Given the description of an element on the screen output the (x, y) to click on. 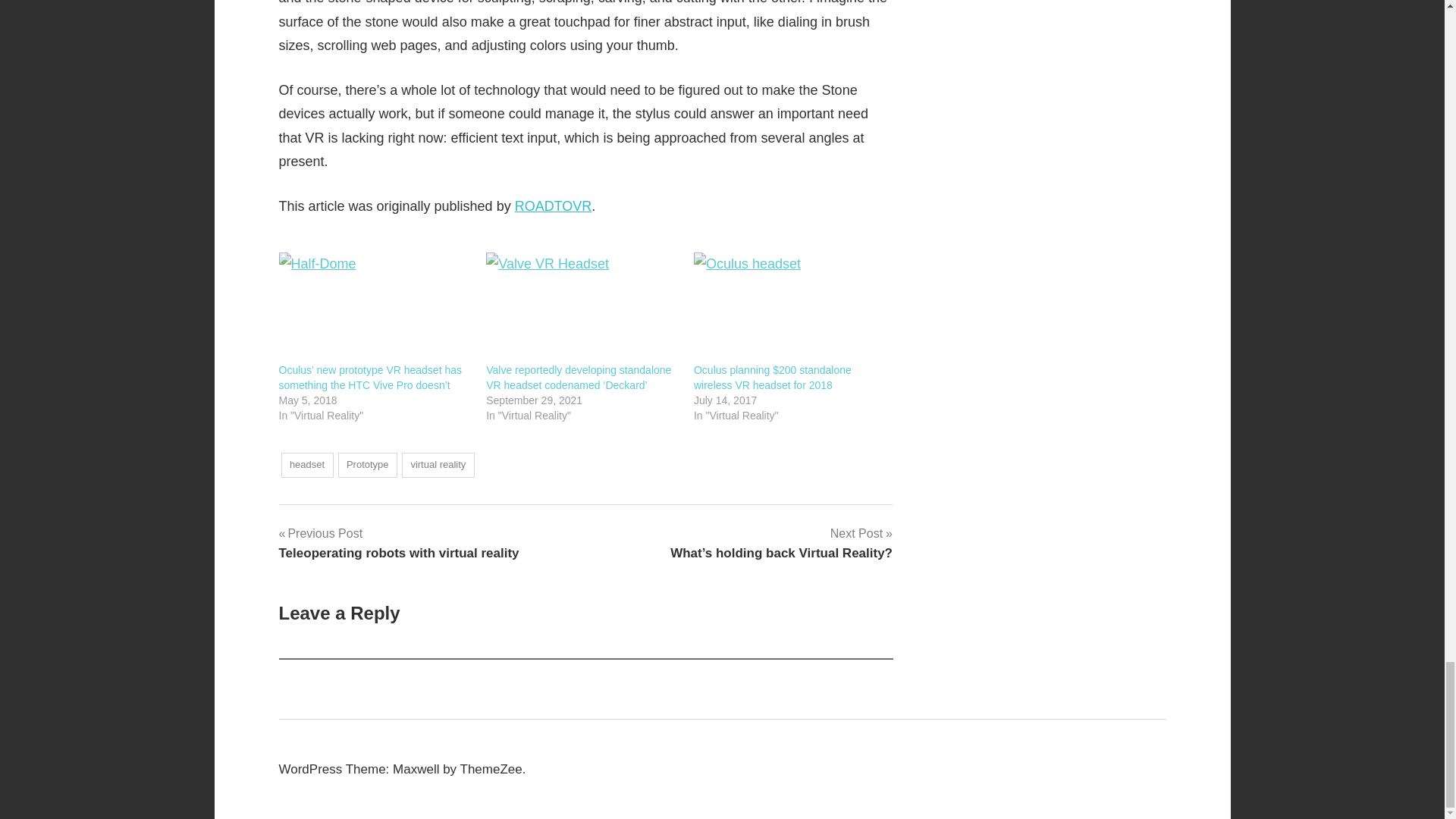
virtual reality (399, 542)
ROADTOVR (437, 464)
Comment Form (553, 206)
headset (367, 464)
